Given the description of an element on the screen output the (x, y) to click on. 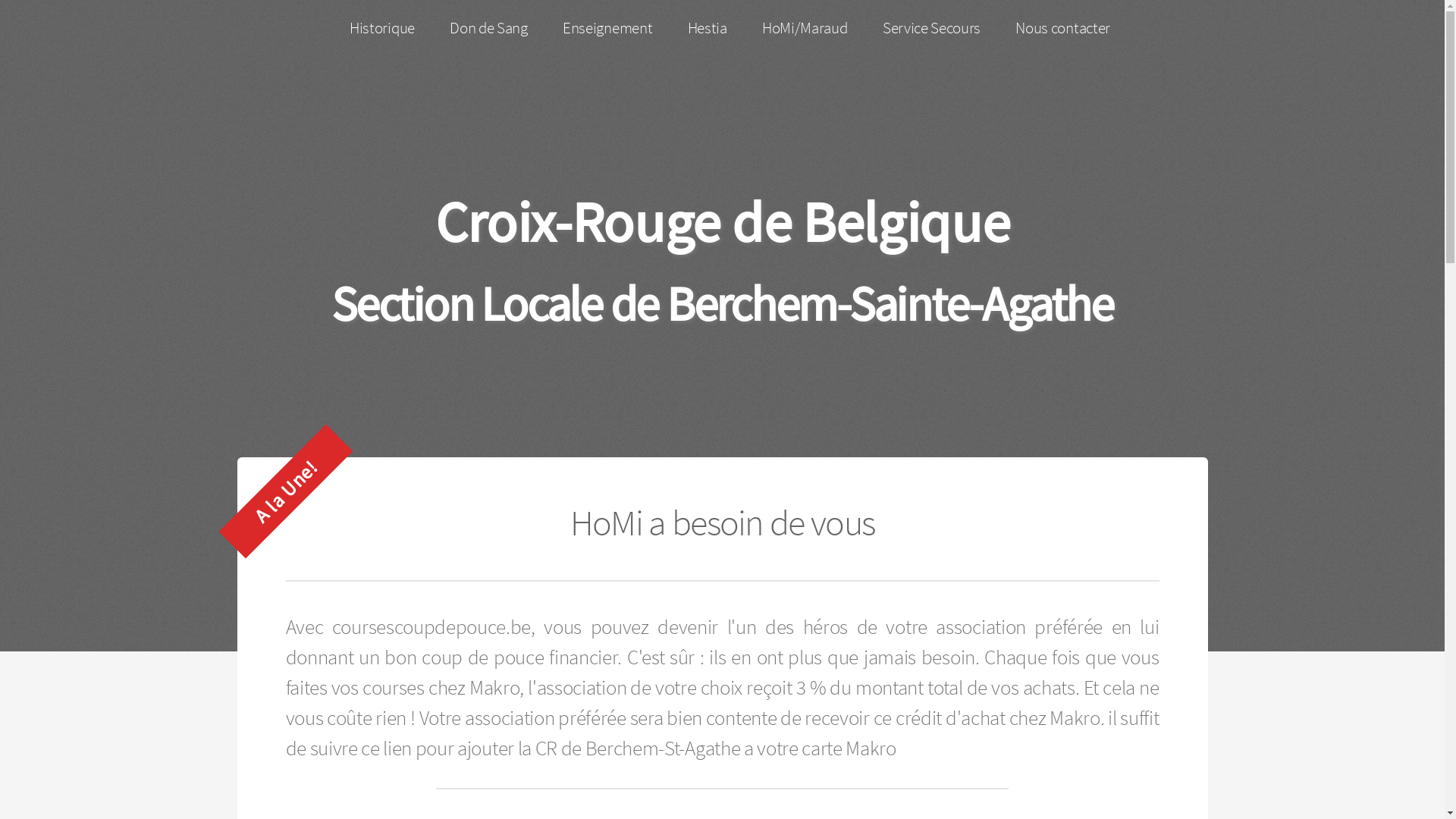
HoMi/Maraud Element type: text (804, 28)
Nous contacter Element type: text (1062, 28)
Enseignement Element type: text (607, 28)
Don de Sang Element type: text (488, 28)
Hestia Element type: text (707, 28)
Historique Element type: text (381, 28)
Service Secours Element type: text (931, 28)
